Given the description of an element on the screen output the (x, y) to click on. 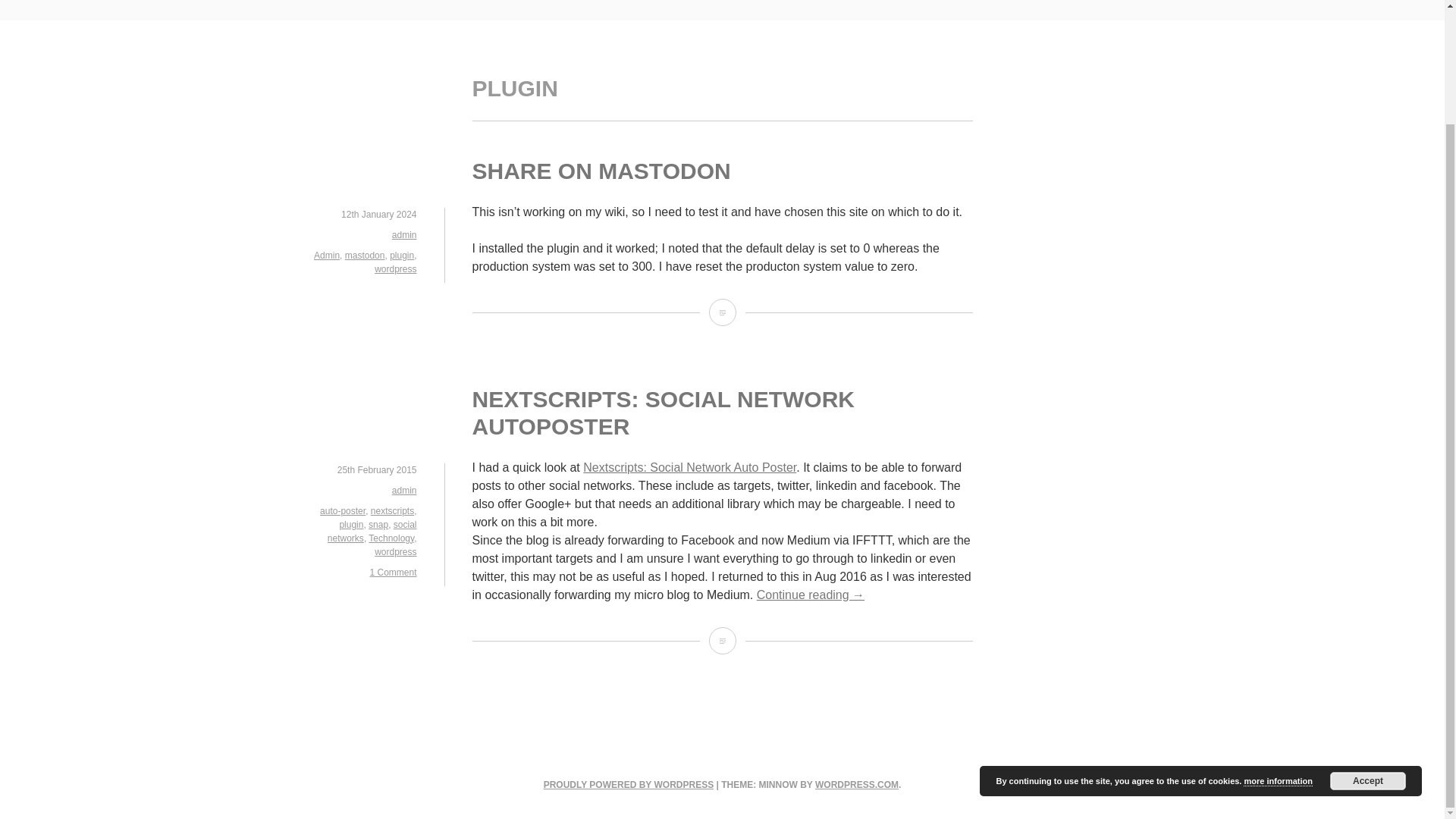
snap (378, 524)
Nextscripts: Social Network Auto Poster (689, 467)
12th January 2024 (378, 214)
nextscripts (392, 511)
Technology (390, 538)
plugin (401, 255)
wordpress (395, 268)
admin (403, 235)
PROUDLY POWERED BY WORDPRESS (628, 784)
SHARE ON MASTODON (600, 170)
